Given the description of an element on the screen output the (x, y) to click on. 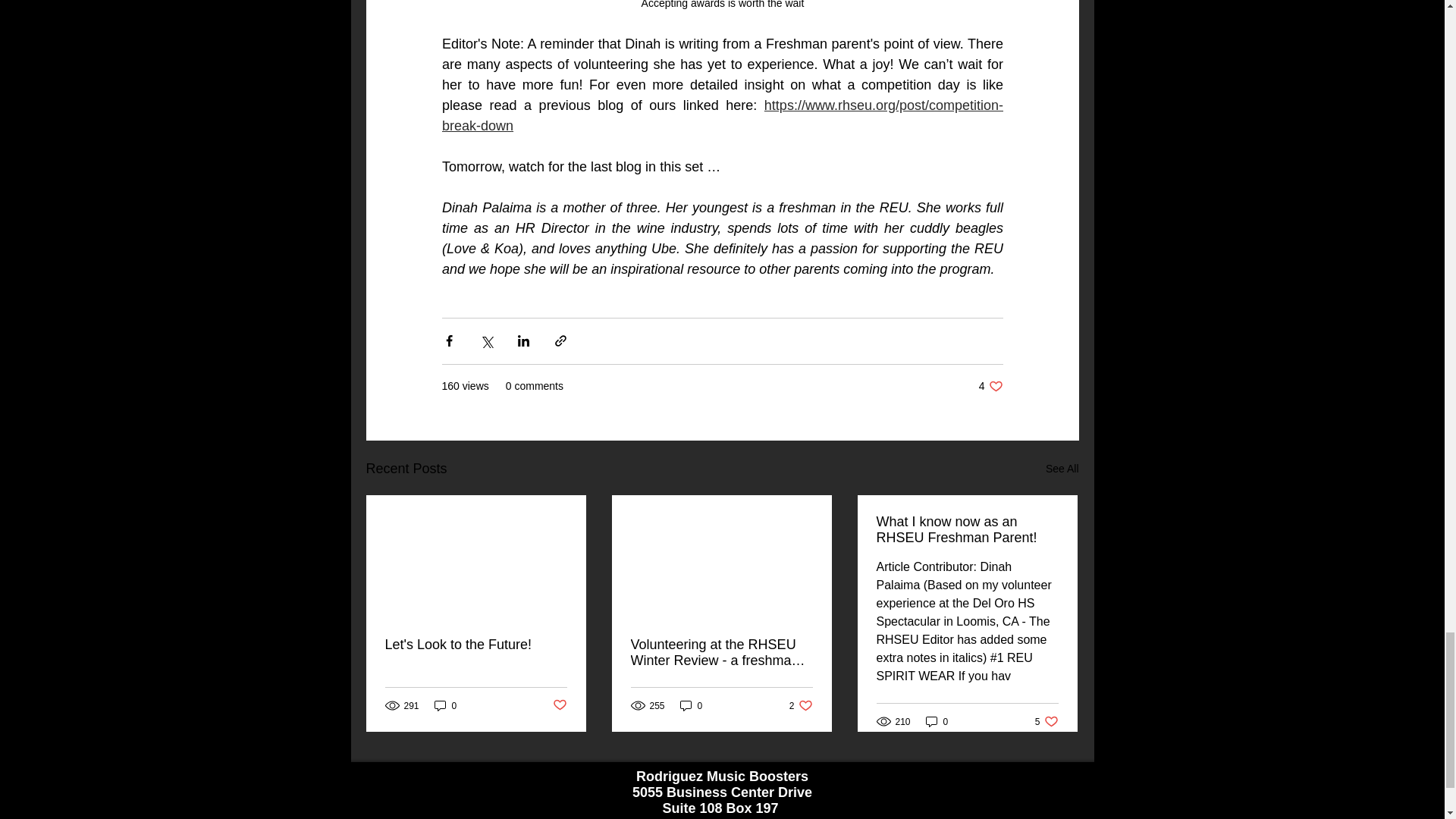
See All (990, 386)
Let's Look to the Future! (1061, 468)
